Given the description of an element on the screen output the (x, y) to click on. 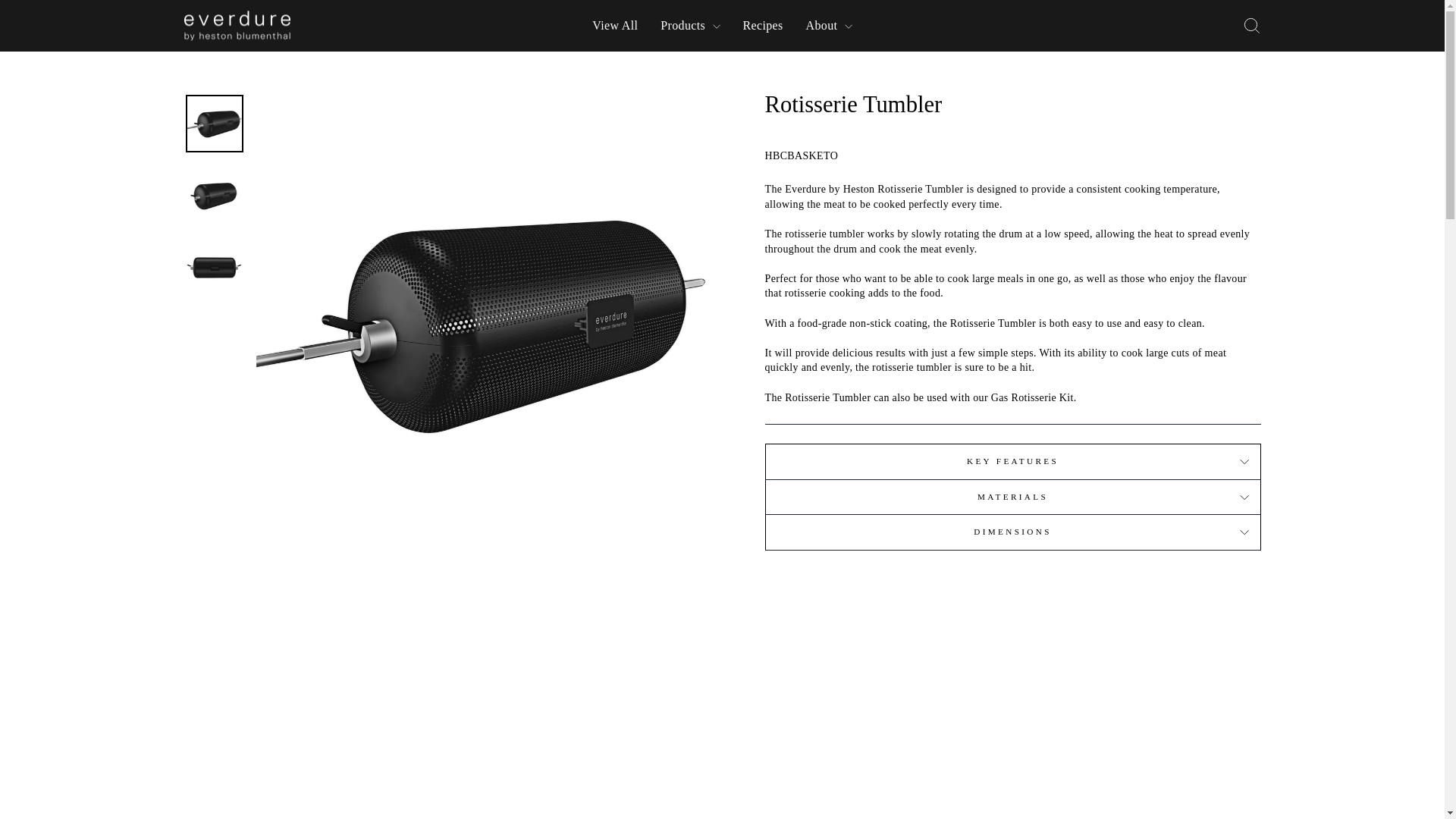
icon-search (1251, 25)
View All (614, 25)
